Given the description of an element on the screen output the (x, y) to click on. 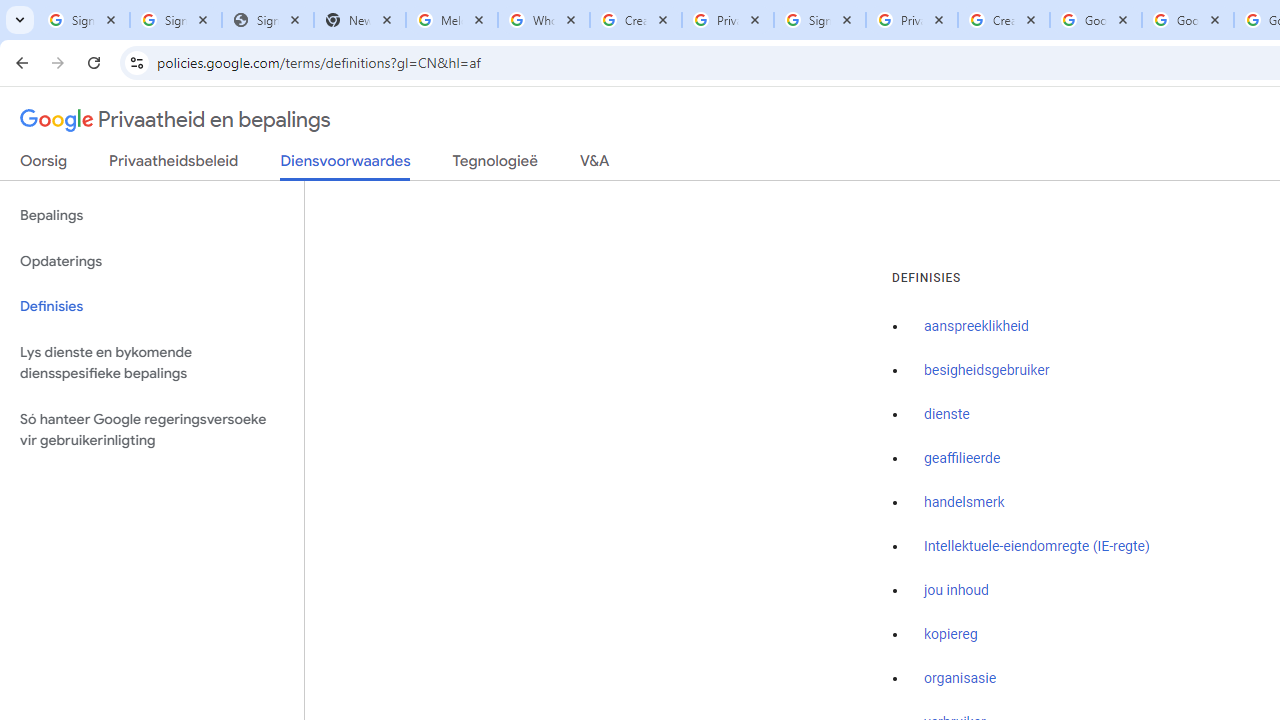
Create your Google Account (1003, 20)
Sign in - Google Accounts (820, 20)
Bepalings (152, 215)
New Tab (359, 20)
Who is my administrator? - Google Account Help (543, 20)
Privaatheid en bepalings (175, 120)
Opdaterings (152, 261)
Privaatheidsbeleid (173, 165)
Diensvoorwaardes (345, 166)
